Given the description of an element on the screen output the (x, y) to click on. 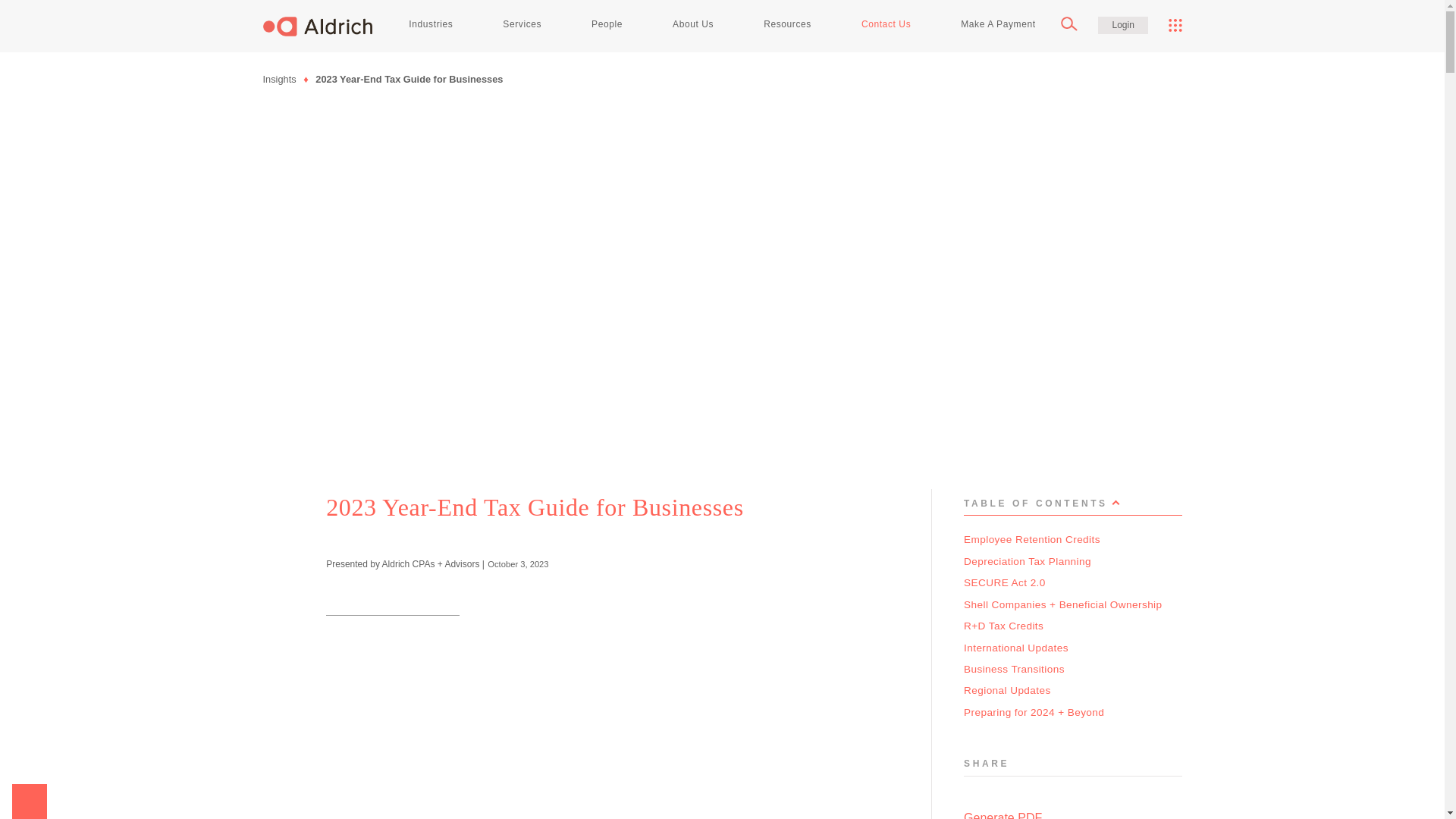
Make A Payment (998, 23)
Login (1122, 25)
2023 Year-End Tax Guide for Businesses (408, 79)
Contact Us (885, 23)
industries (430, 23)
resources (788, 23)
Resources (788, 23)
Services (522, 23)
About Us (693, 23)
services (522, 23)
